Given the description of an element on the screen output the (x, y) to click on. 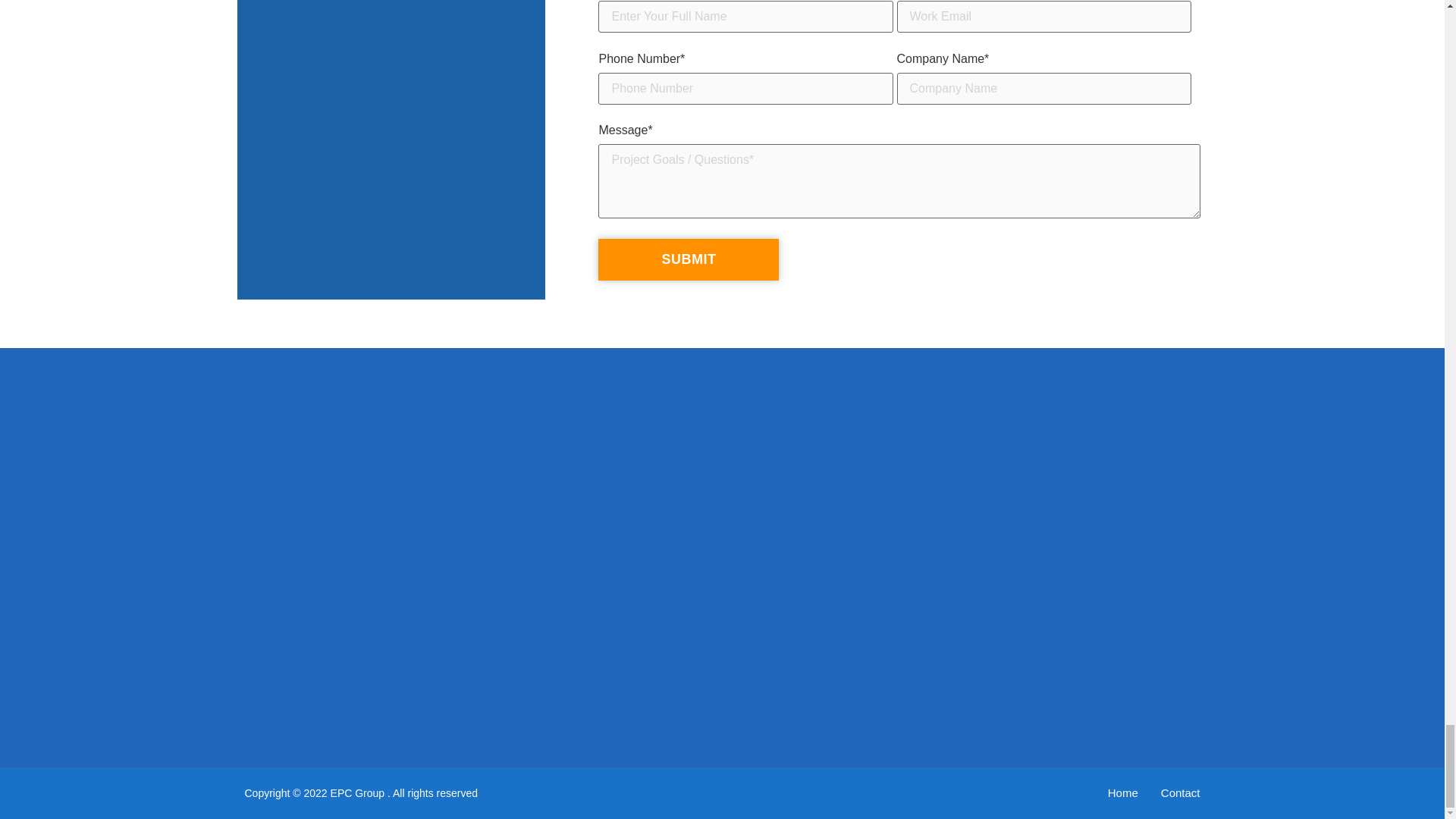
SUBMIT (688, 259)
